Given the description of an element on the screen output the (x, y) to click on. 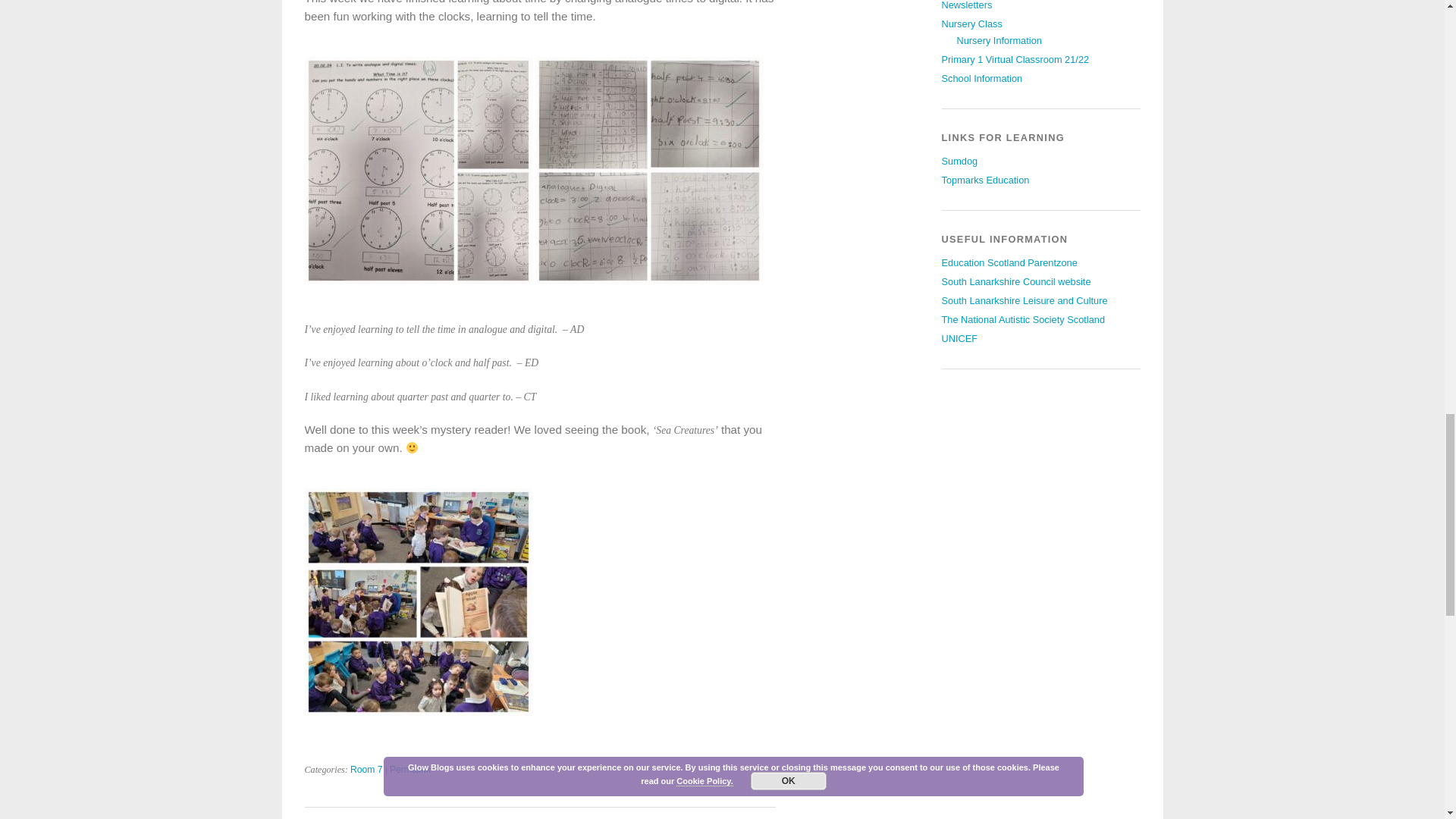
Fantastic games to consolidate learning at home. (985, 179)
Permalink (410, 769)
Room 7 (366, 769)
